Given the description of an element on the screen output the (x, y) to click on. 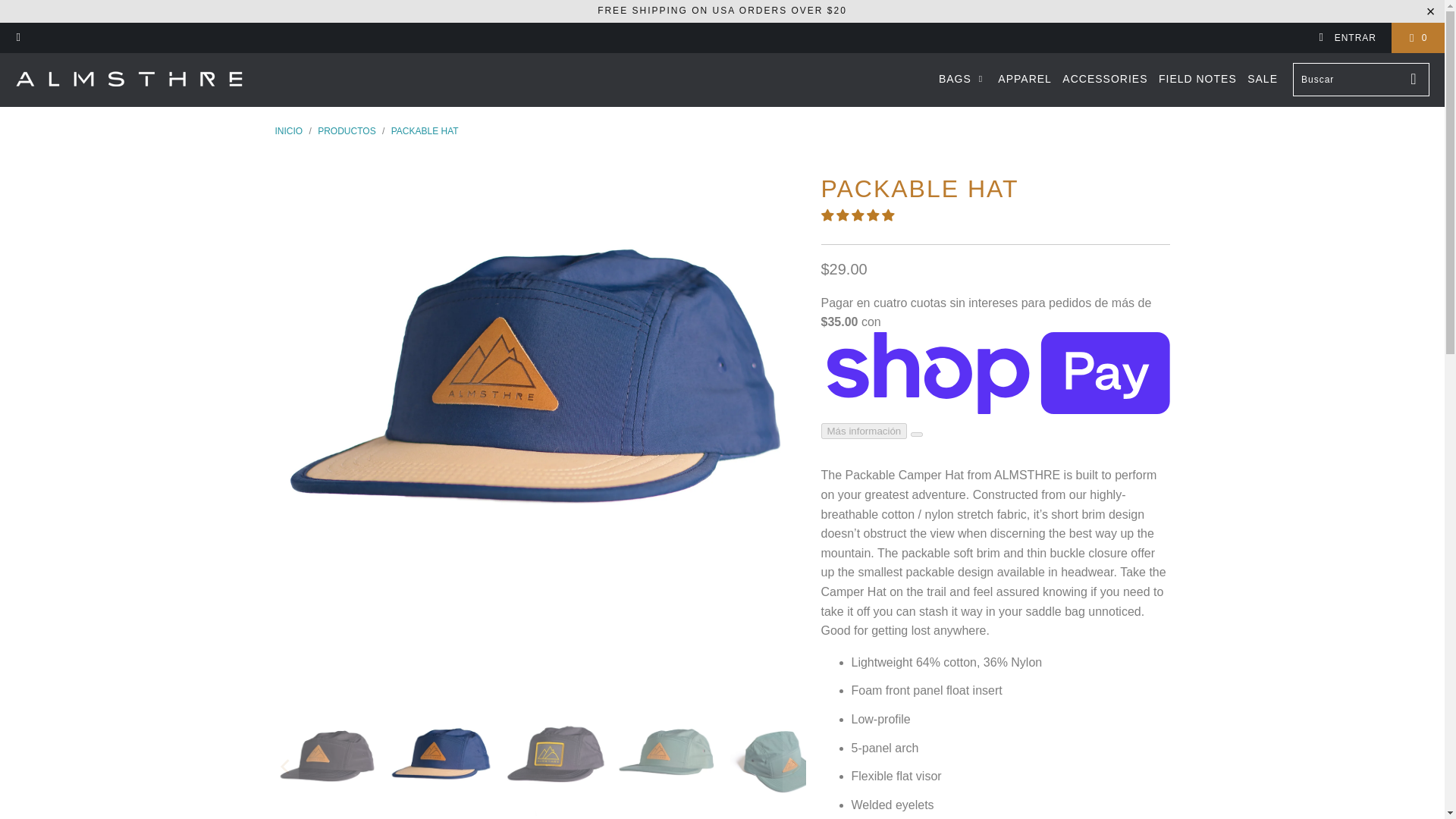
ALMSTHRE (128, 79)
ENTRAR (1347, 37)
Productos (346, 131)
ALMSTHRE on Instagram (17, 37)
Mi cuenta  (1347, 37)
ALMSTHRE (288, 131)
